Given the description of an element on the screen output the (x, y) to click on. 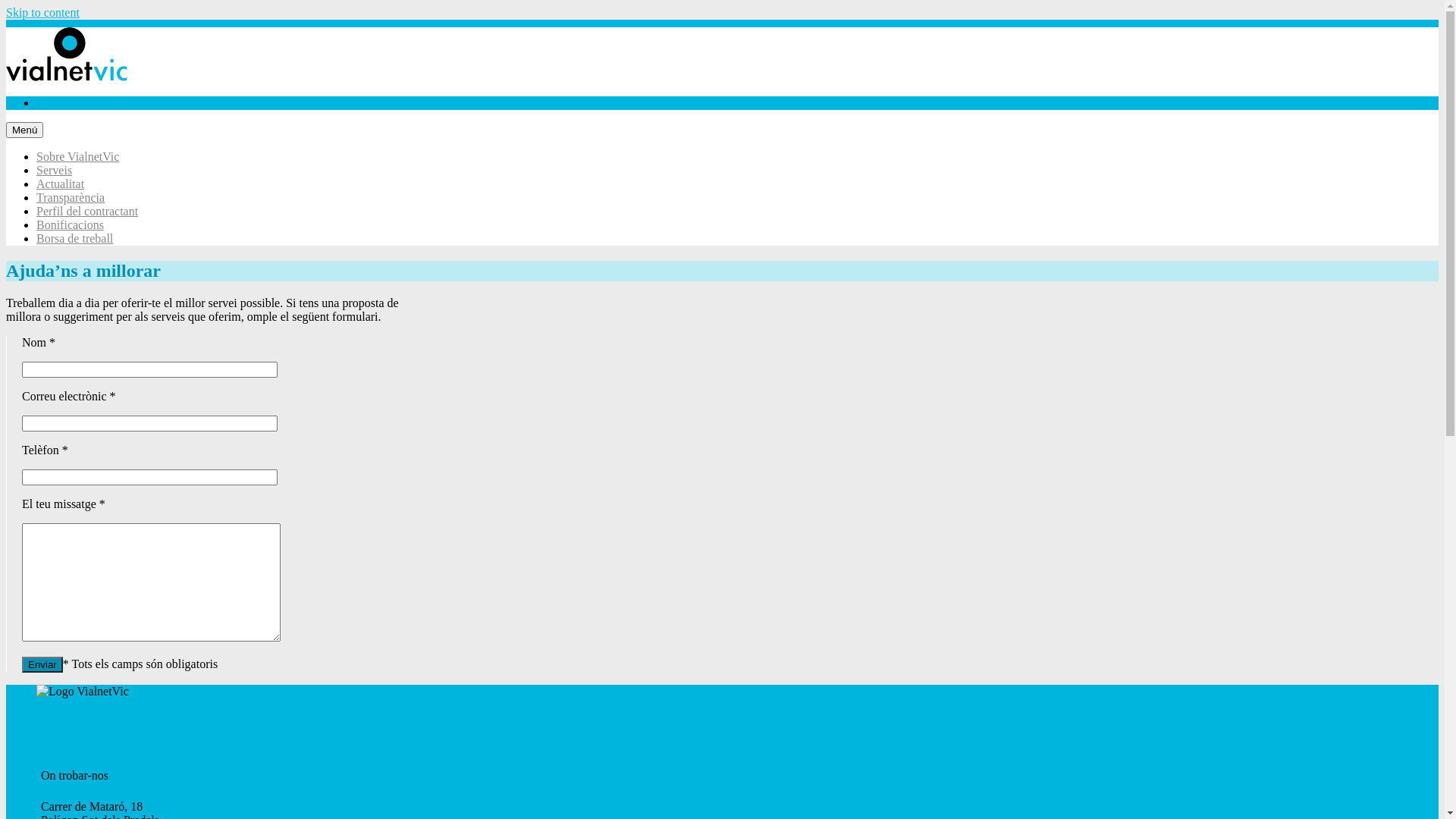
Bonificacions Element type: text (69, 224)
Borsa de treball Element type: text (74, 238)
Sobre VialnetVic Element type: text (77, 156)
Skip to content Element type: text (42, 12)
Actualitat Element type: text (60, 183)
Enviar Element type: text (41, 664)
Serveis Element type: text (54, 169)
Perfil del contractant Element type: text (87, 210)
